Given the description of an element on the screen output the (x, y) to click on. 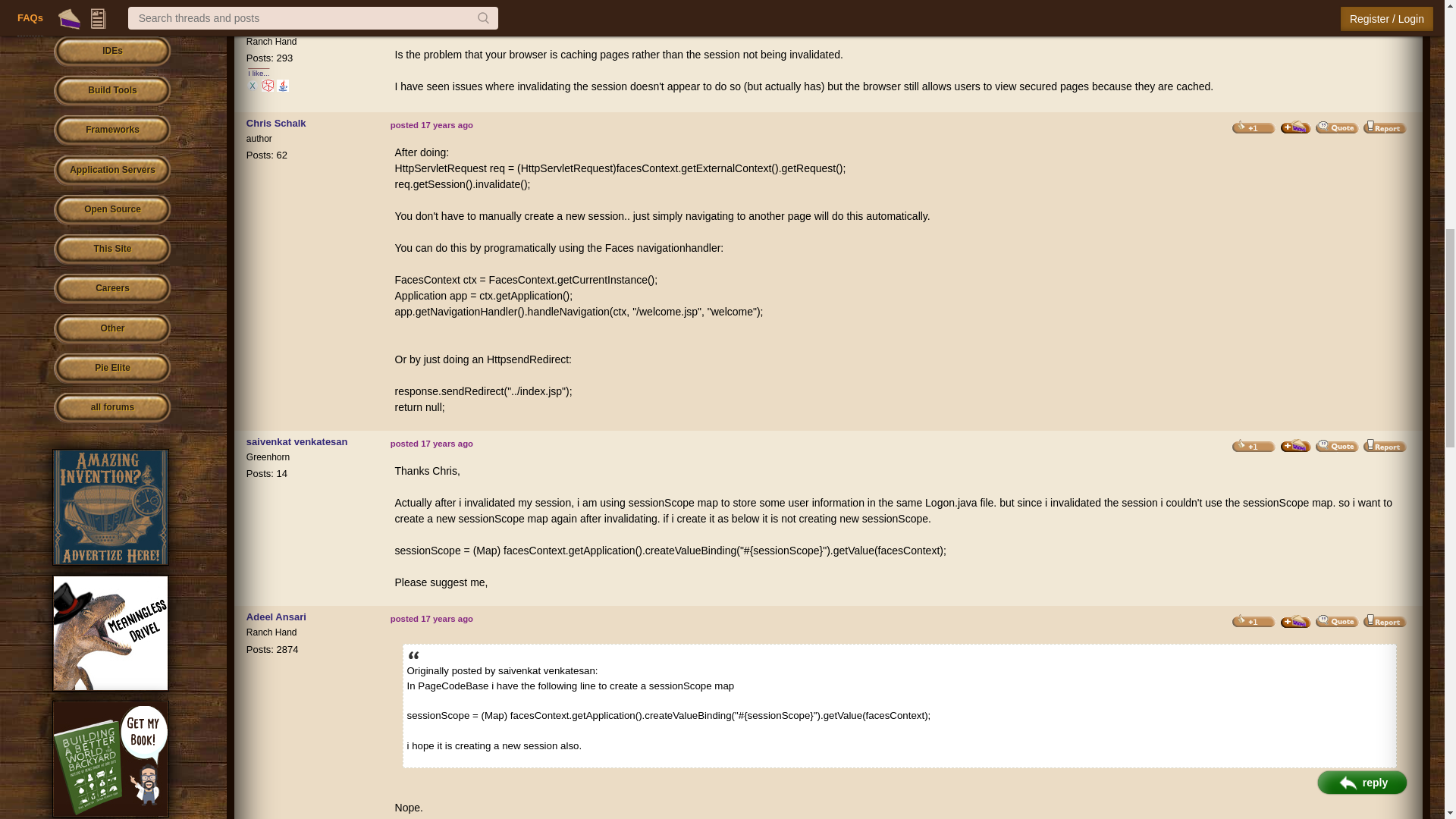
Frameworks (112, 130)
IDEs (112, 51)
Paradigms (112, 13)
Build Tools (112, 91)
